Given the description of an element on the screen output the (x, y) to click on. 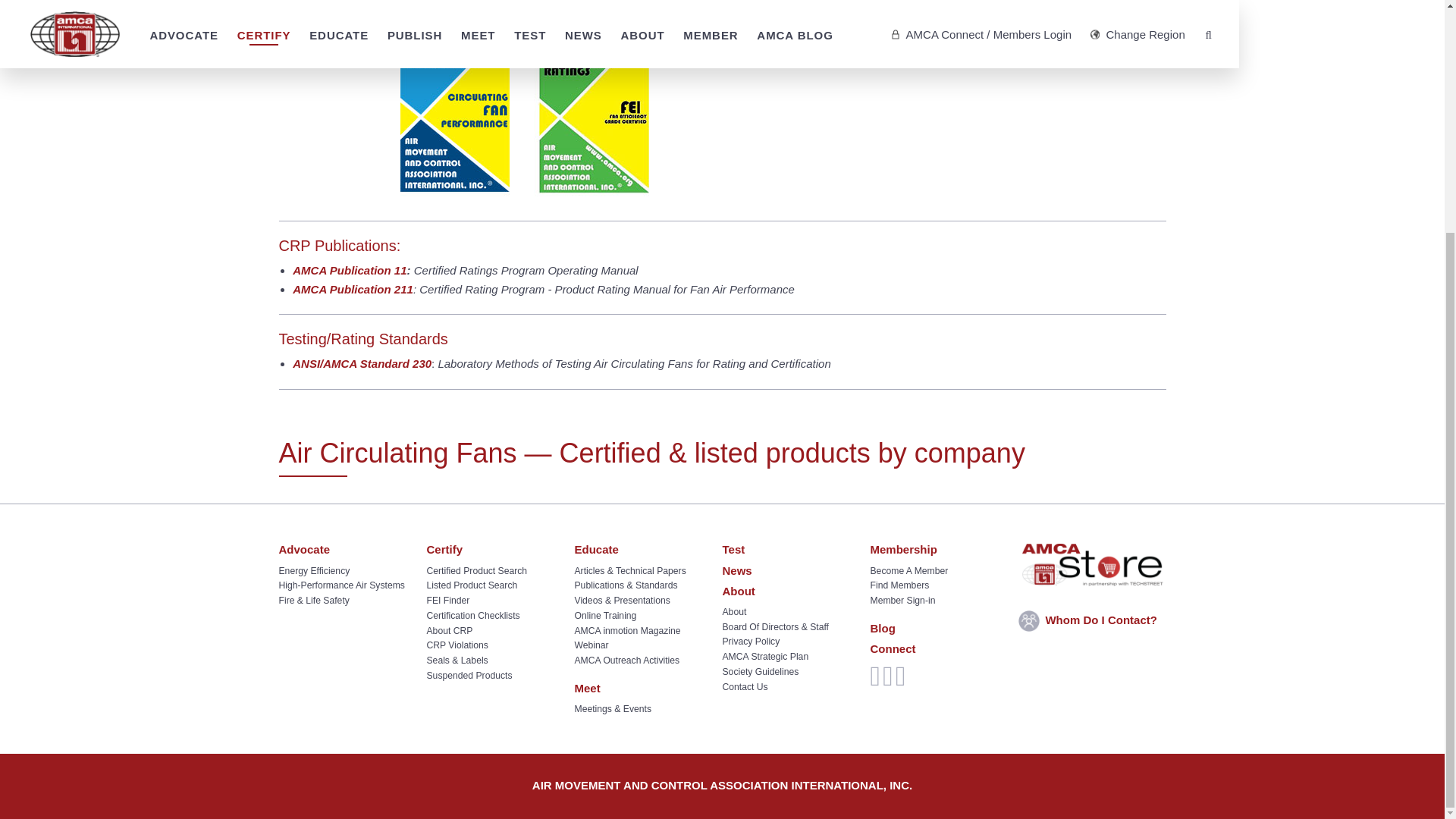
AMCA on Twitter (887, 682)
AMCA on LinkedIn (900, 682)
AMCA Store (1091, 564)
AMCA on Facebook (875, 682)
Whom Do I Contact? (1091, 620)
